Given the description of an element on the screen output the (x, y) to click on. 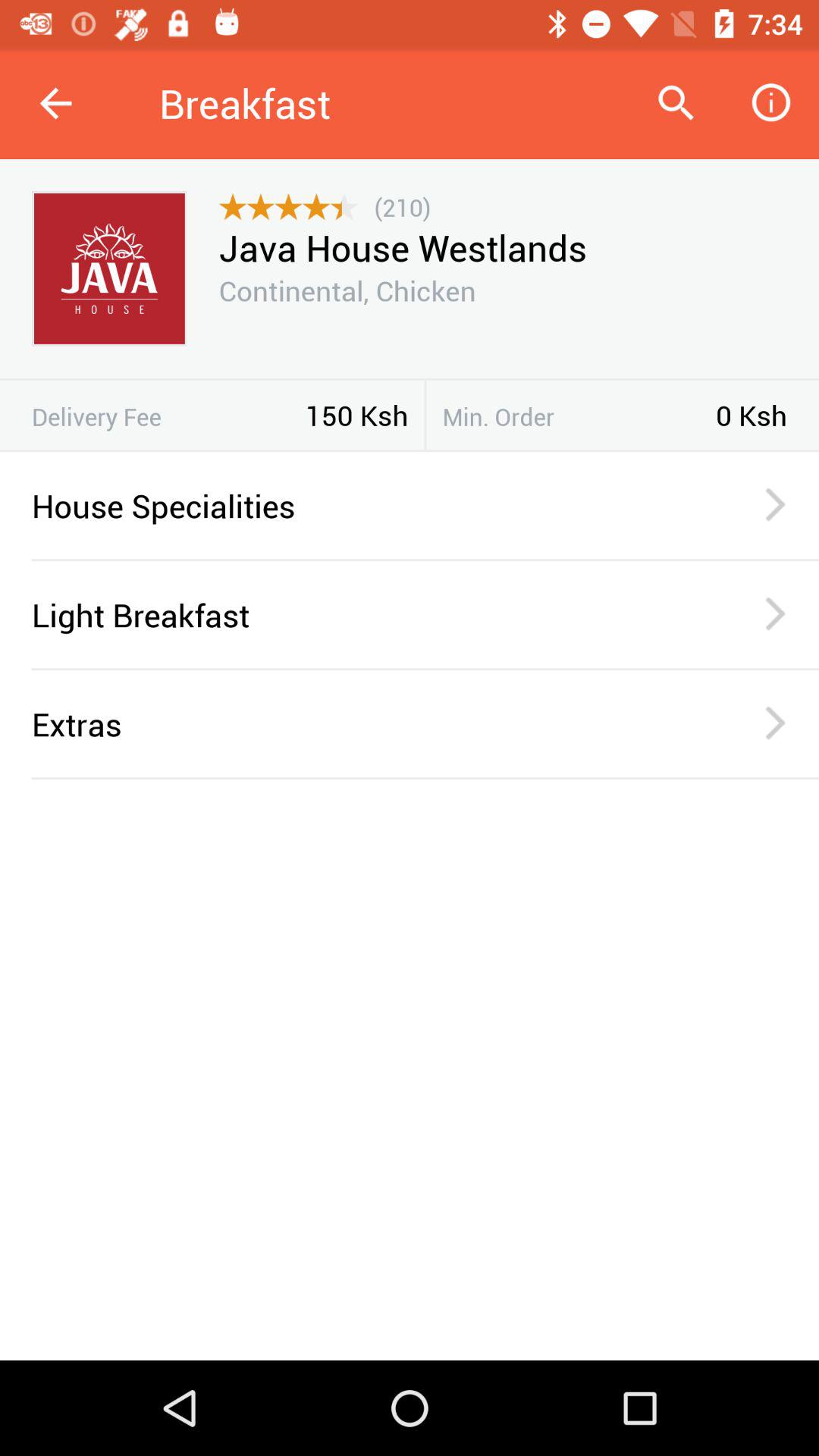
choose the item below the light breakfast (425, 669)
